Given the description of an element on the screen output the (x, y) to click on. 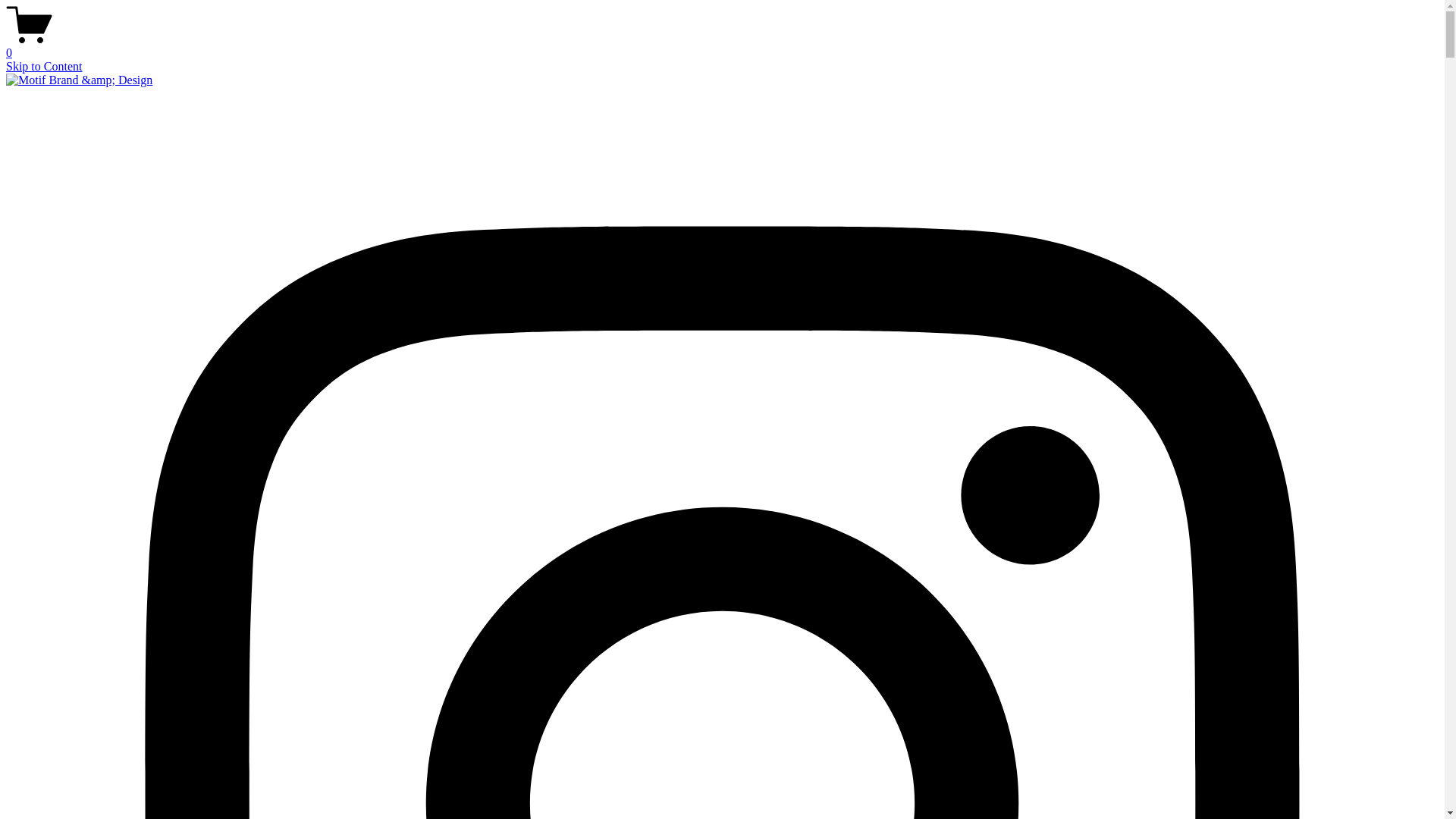
0 Element type: text (722, 45)
Skip to Content Element type: text (43, 65)
